Given the description of an element on the screen output the (x, y) to click on. 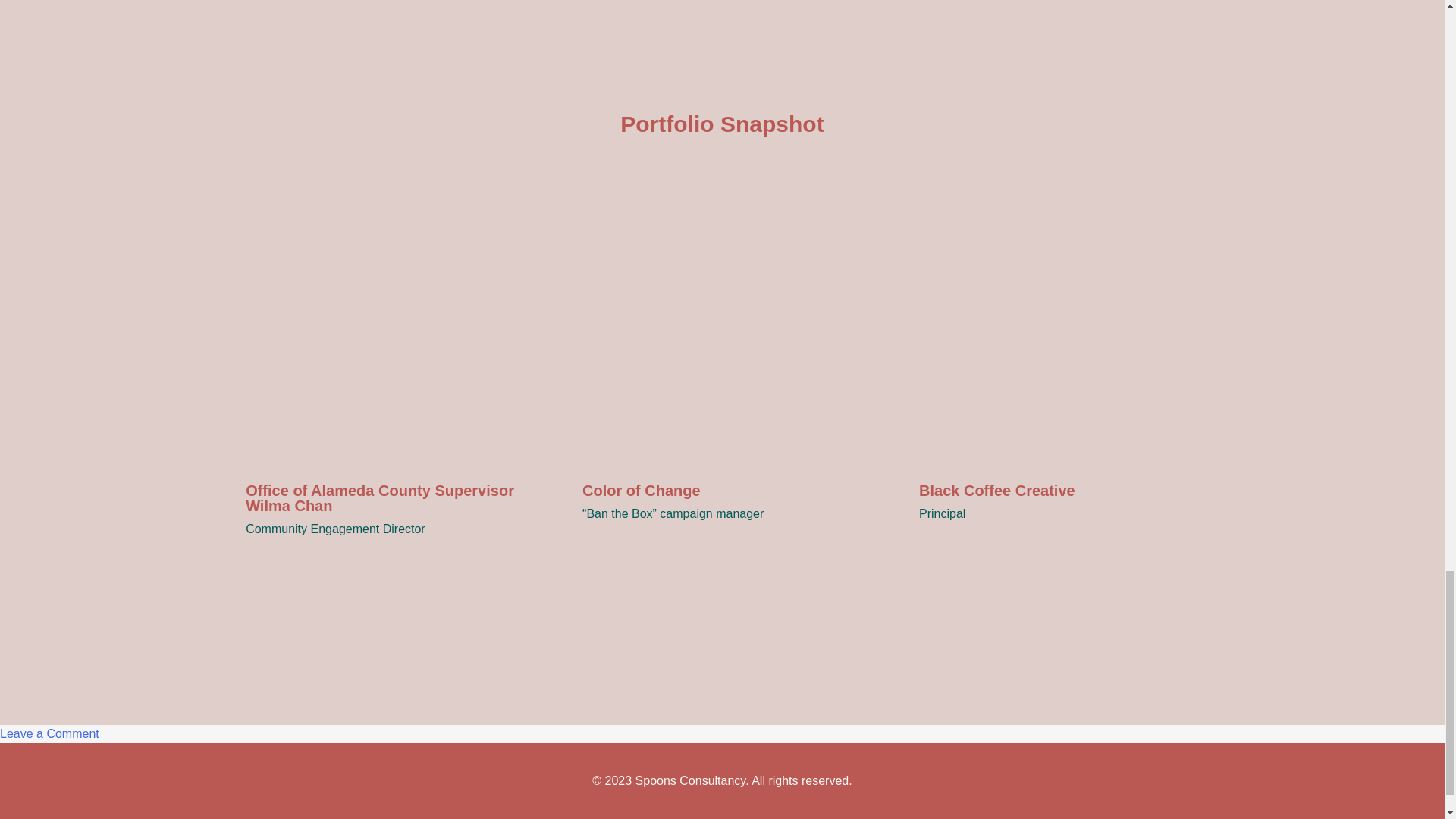
Color of Change (49, 733)
Black Coffee Creative (721, 480)
Office of Alameda County Supervisor Wilma Chan (1058, 480)
